Given the description of an element on the screen output the (x, y) to click on. 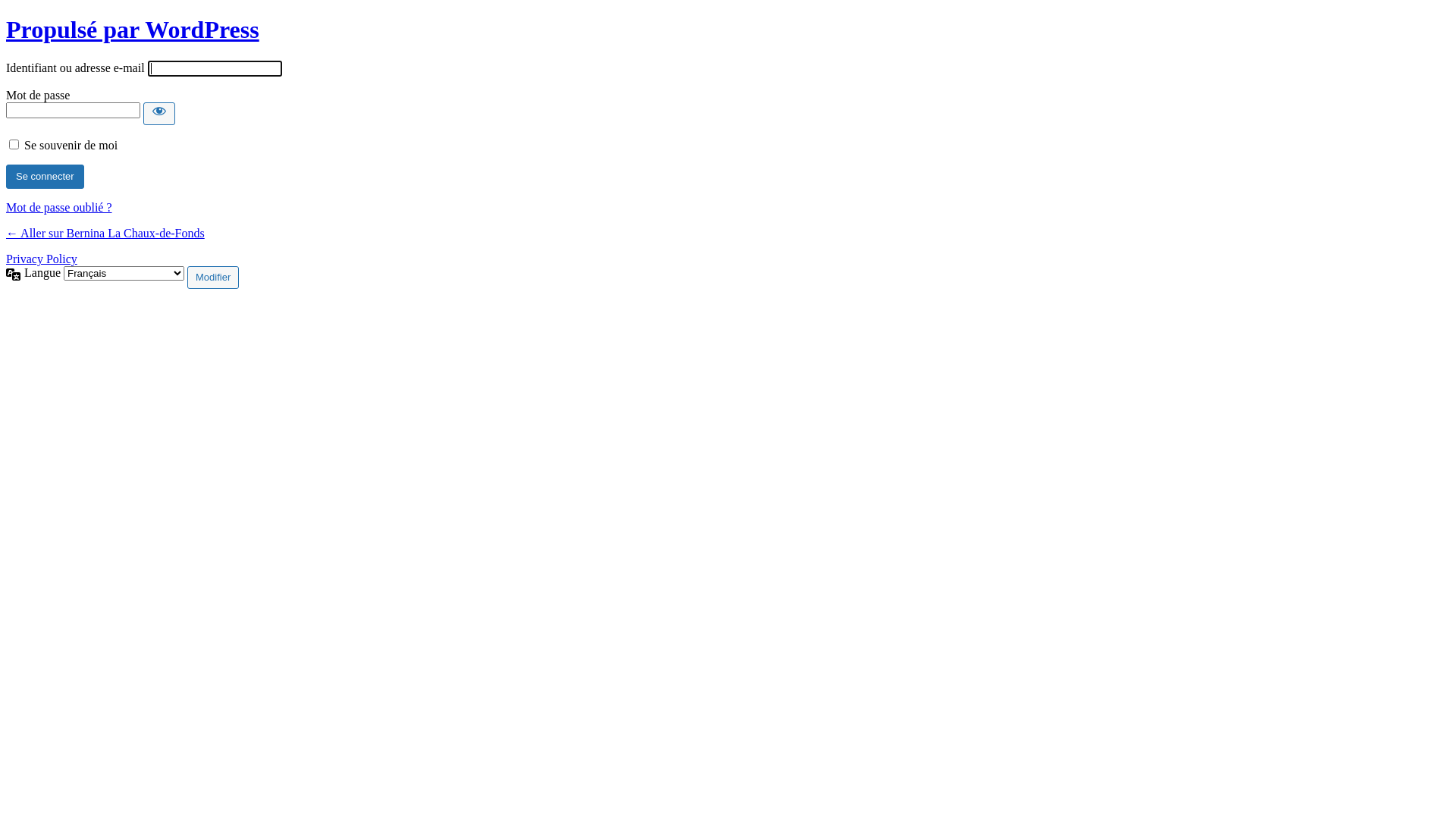
Privacy Policy Element type: text (41, 258)
Se connecter Element type: text (45, 176)
Modifier Element type: text (212, 277)
